Given the description of an element on the screen output the (x, y) to click on. 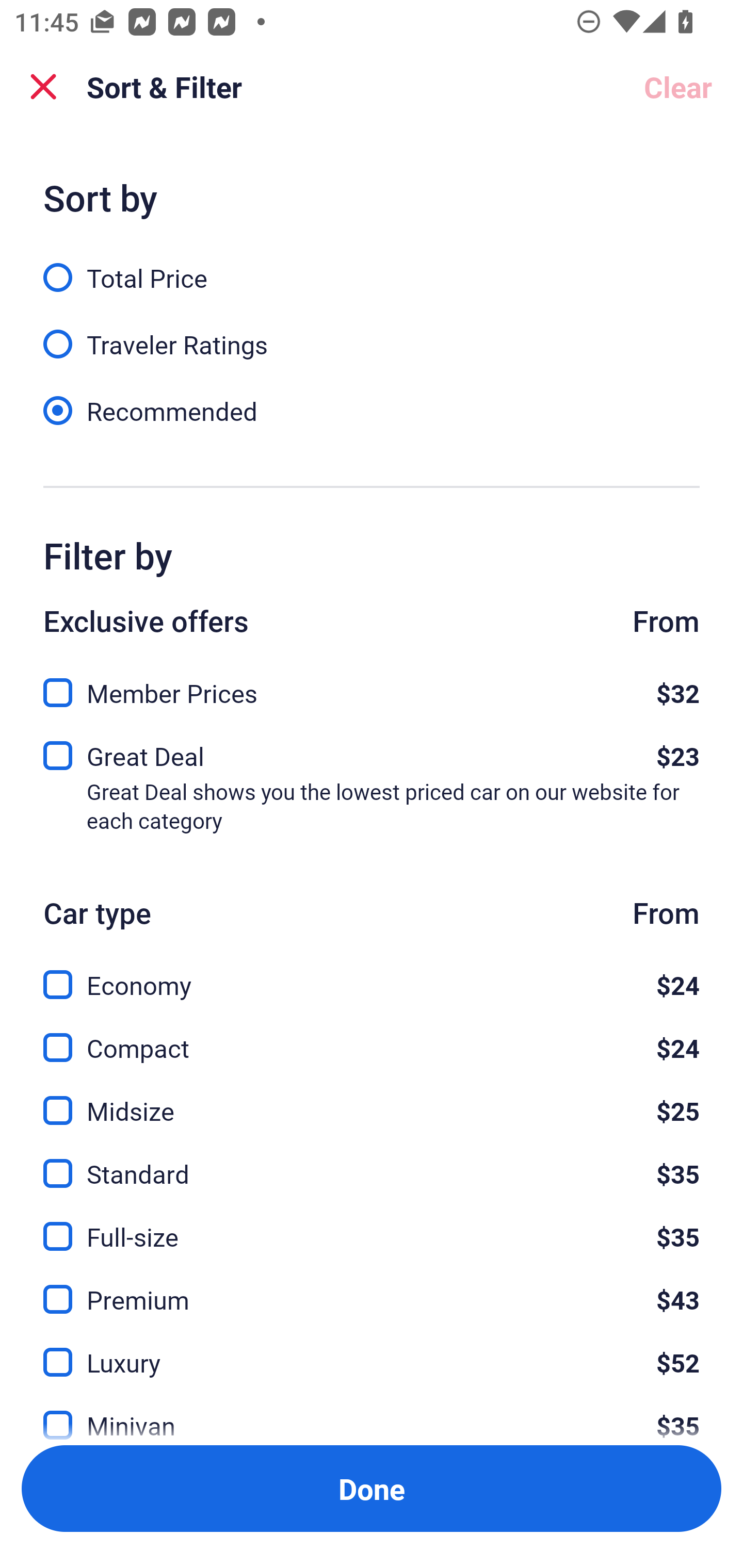
Close Sort and Filter (43, 86)
Clear (677, 86)
Total Price (371, 266)
Traveler Ratings (371, 332)
Member Prices, $32 Member Prices $32 (371, 686)
Economy, $24 Economy $24 (371, 973)
Compact, $24 Compact $24 (371, 1036)
Midsize, $25 Midsize $25 (371, 1098)
Standard, $35 Standard $35 (371, 1161)
Full-size, $35 Full-size $35 (371, 1224)
Premium, $43 Premium $43 (371, 1286)
Luxury, $52 Luxury $52 (371, 1350)
Minivan, $35 Minivan $35 (371, 1413)
Apply and close Sort and Filter Done (371, 1488)
